Given the description of an element on the screen output the (x, y) to click on. 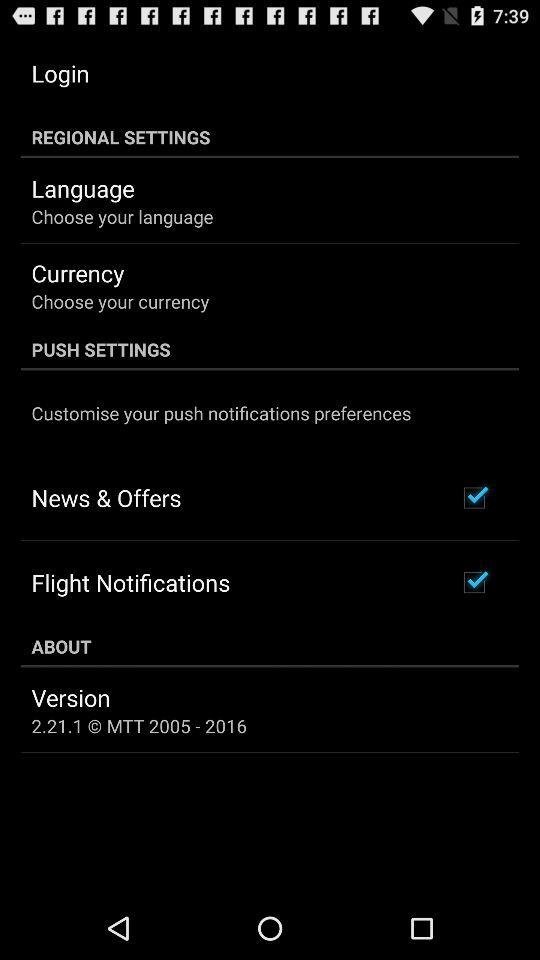
scroll to the regional settings app (270, 137)
